Given the description of an element on the screen output the (x, y) to click on. 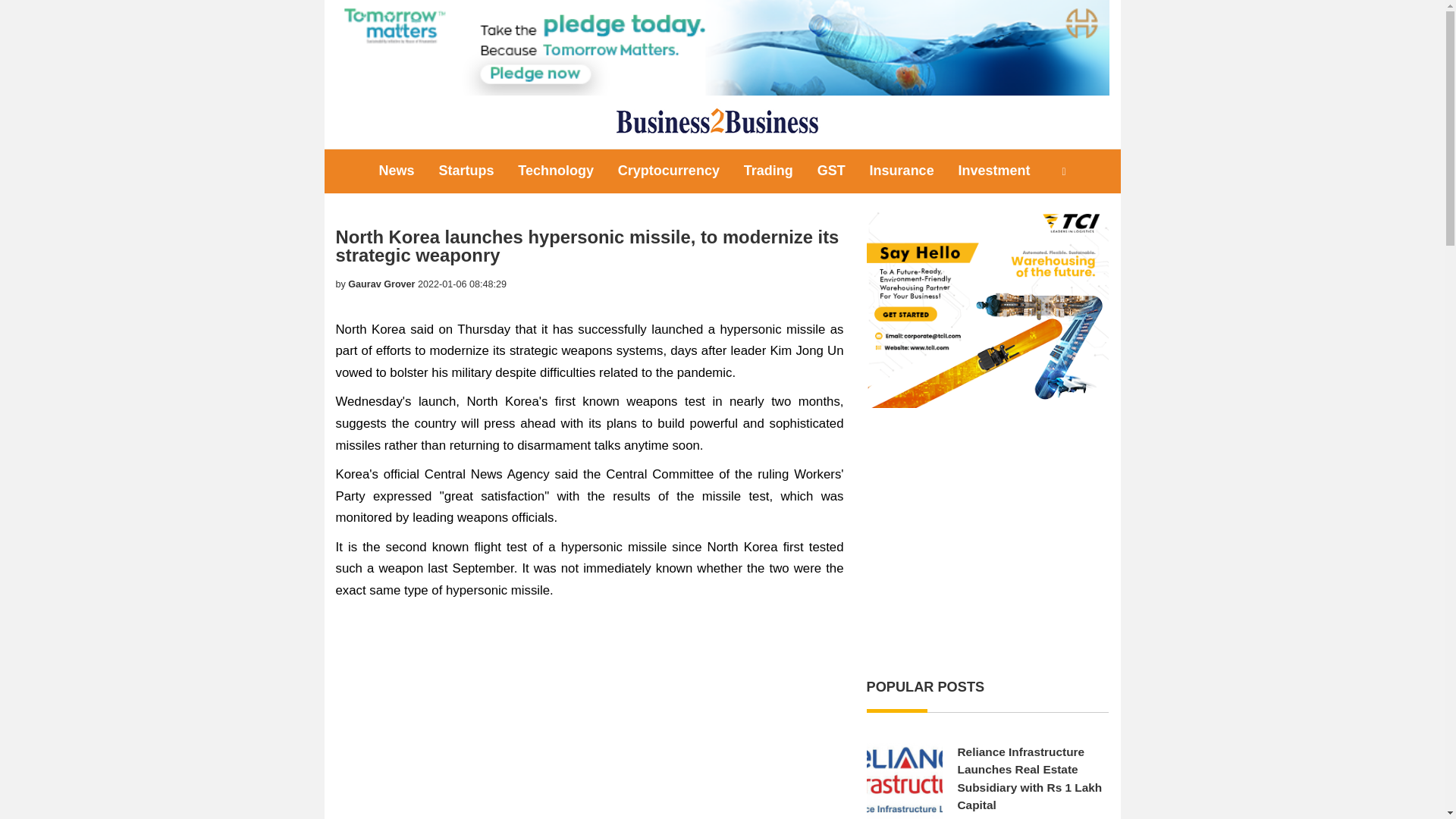
Investment (994, 170)
Insurance (901, 170)
Technology (555, 170)
Advertisement (987, 542)
Cryptocurrency (668, 170)
Startups (465, 170)
Gaurav Grover (380, 284)
Advertisement (588, 714)
Trading (768, 170)
